Given the description of an element on the screen output the (x, y) to click on. 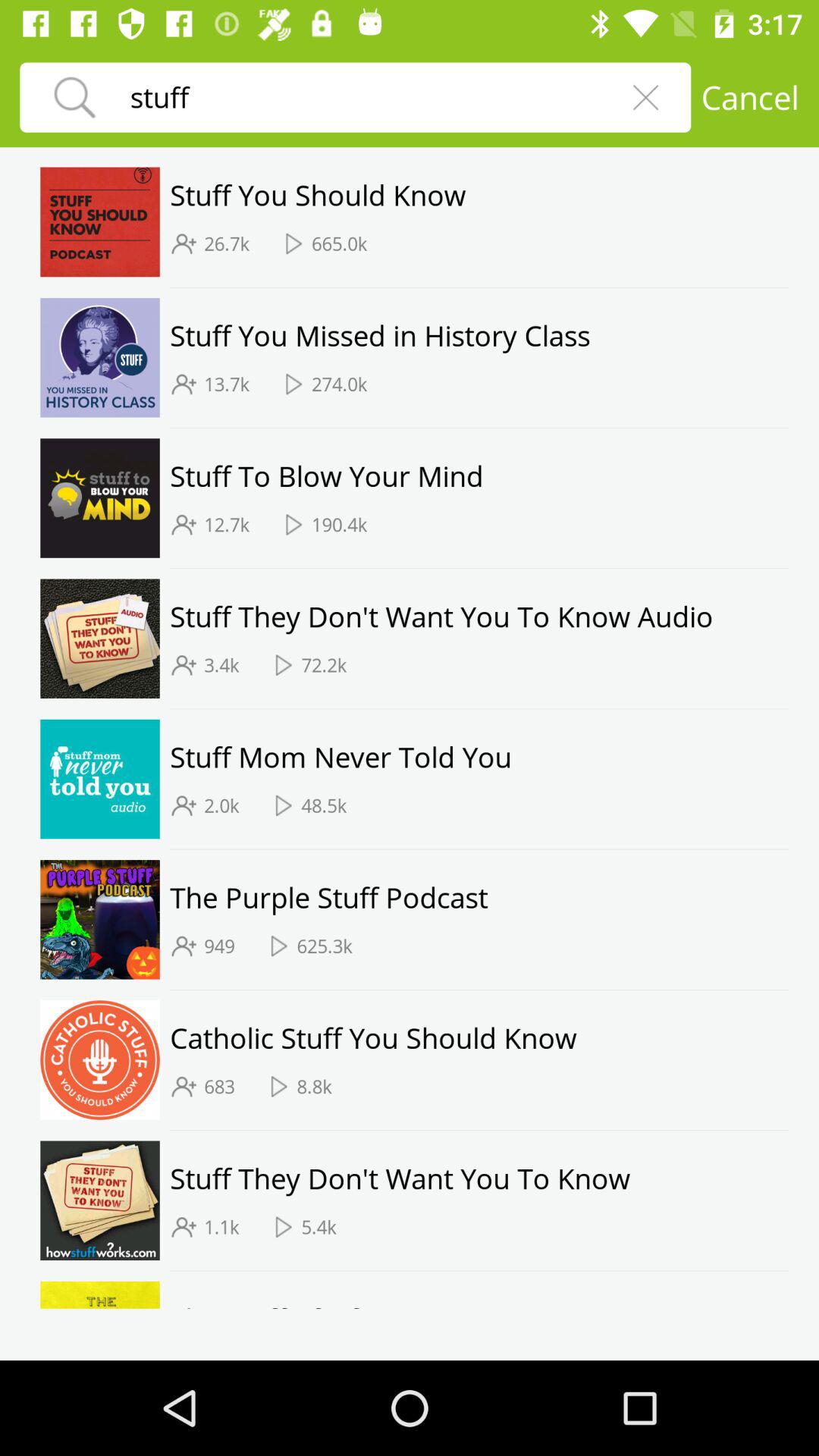
select the item below the stuff they don (323, 664)
